Given the description of an element on the screen output the (x, y) to click on. 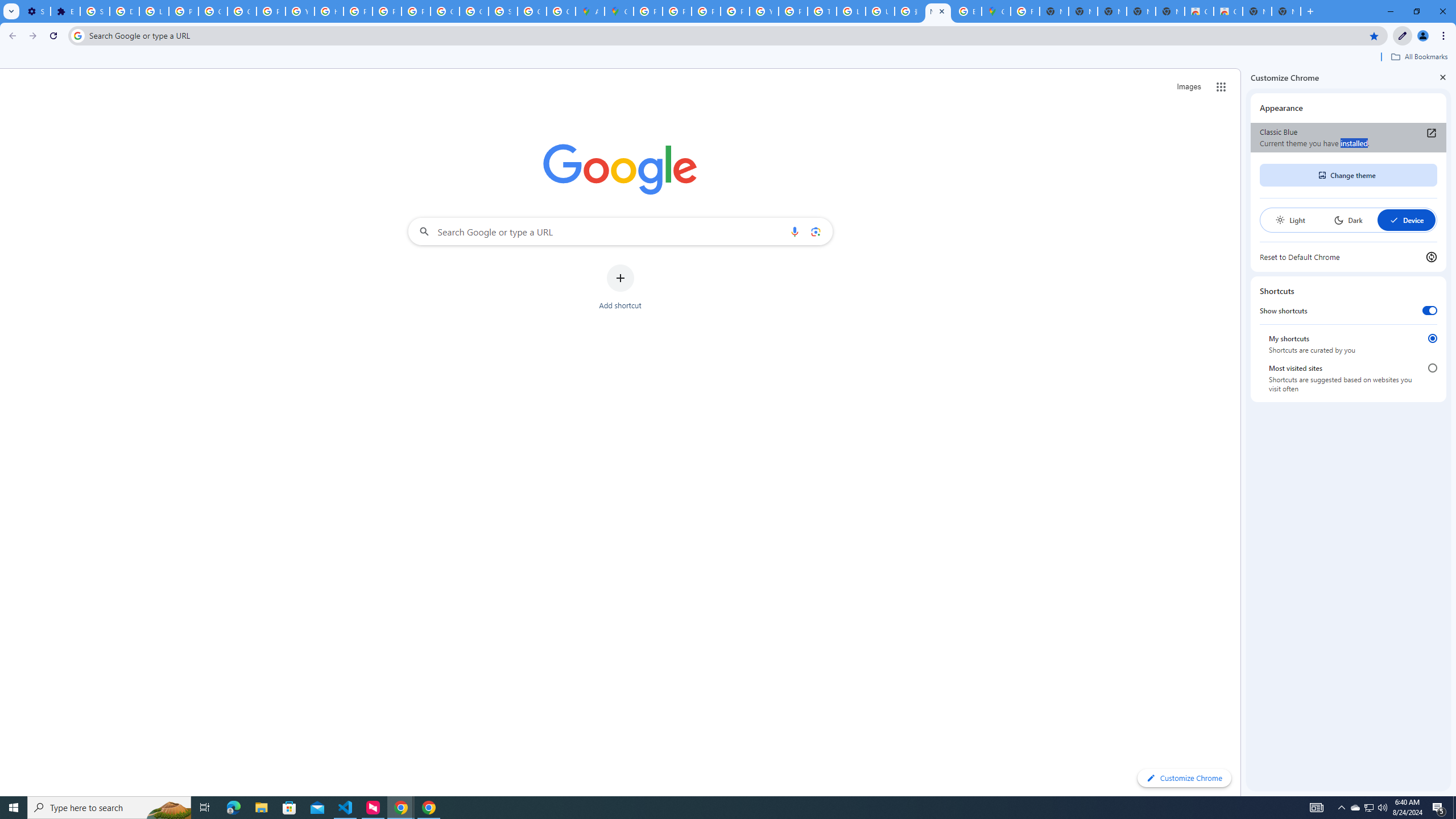
AutomationID: baseSvg (1394, 219)
Classic Blue - Chrome Web Store (1198, 11)
New Tab (938, 11)
Privacy Help Center - Policies Help (357, 11)
Google Account Help (212, 11)
